Given the description of an element on the screen output the (x, y) to click on. 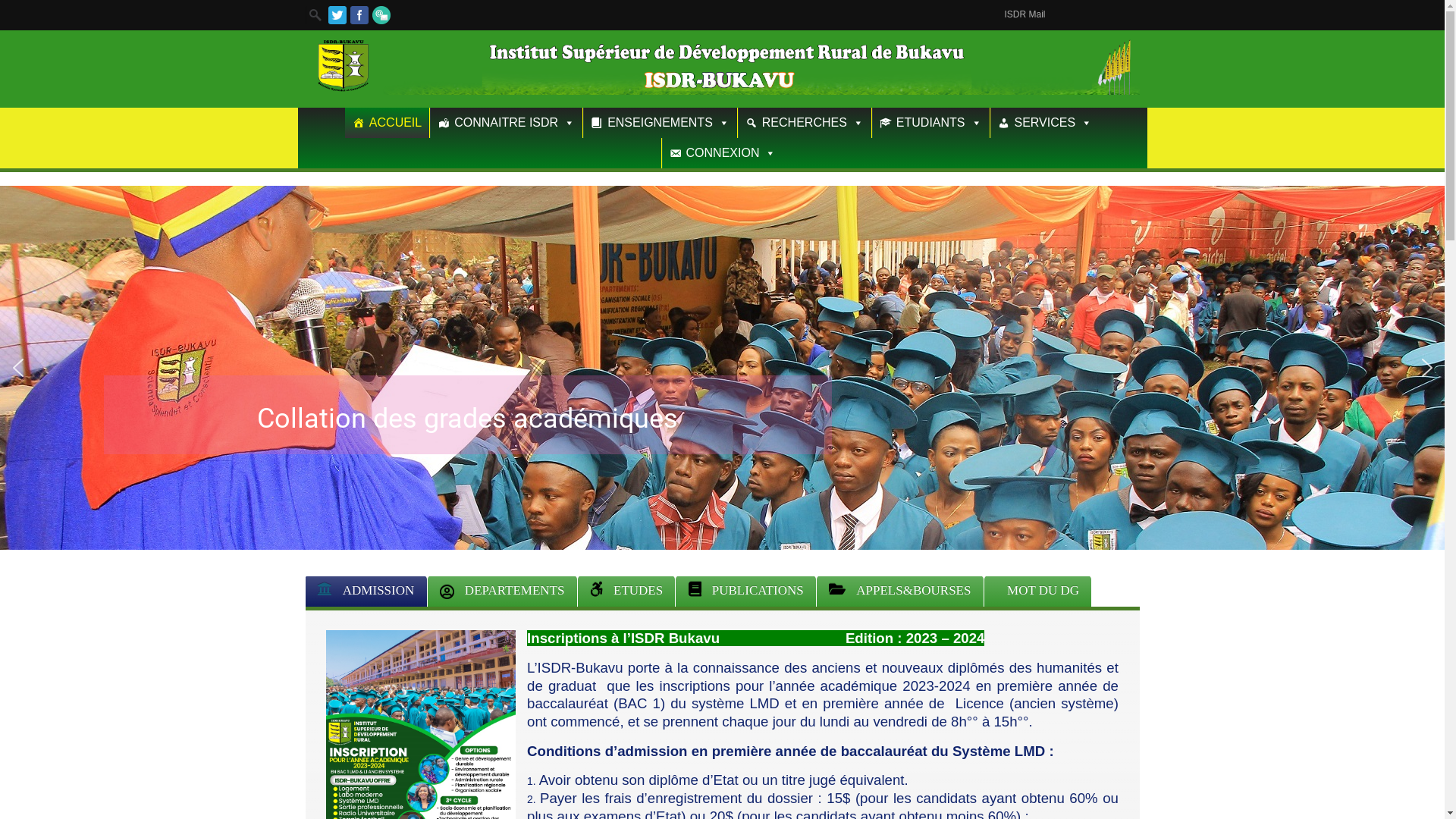
Facebook Element type: hover (359, 15)
ETUDIANTS Element type: text (930, 122)
ENSEIGNEMENTS Element type: text (660, 122)
ISDR Mail Element type: text (1024, 14)
ISDR BUKAVU Element type: hover (721, 90)
PUBLICATIONS Element type: text (745, 590)
Twitter Element type: hover (336, 15)
ETUDES Element type: text (626, 590)
DEPARTEMENTS Element type: text (502, 590)
CONNEXION Element type: text (723, 153)
ACCUEIL Element type: text (387, 122)
MOT DU DG Element type: text (1038, 590)
CONNAITRE ISDR Element type: text (505, 122)
APPELS&BOURSES Element type: text (899, 590)
SERVICES Element type: text (1045, 122)
ADMISSION Element type: text (365, 590)
Search Element type: text (17, 7)
RECHERCHES Element type: text (804, 122)
